Given the description of an element on the screen output the (x, y) to click on. 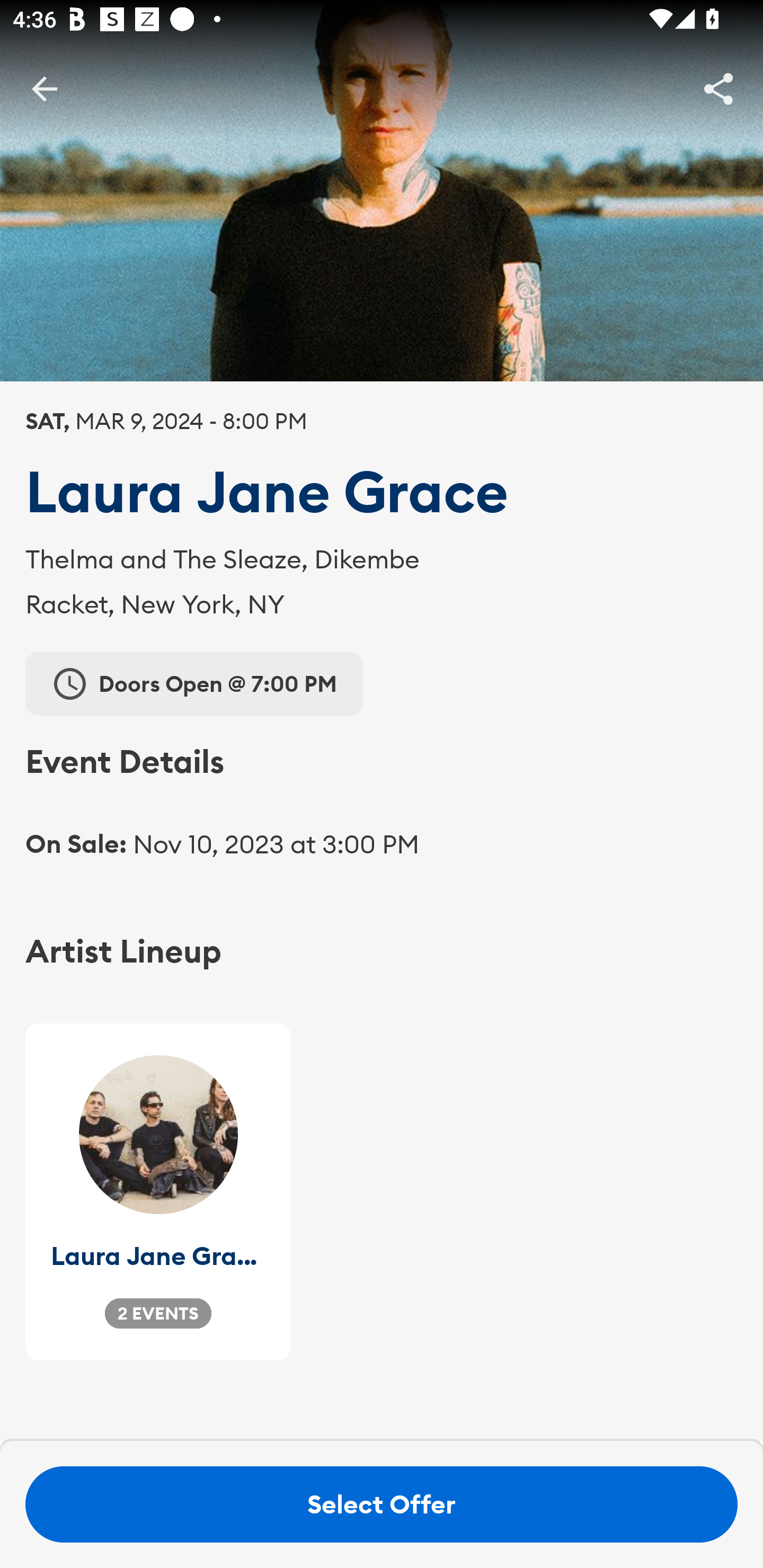
BackButton (44, 88)
Share (718, 88)
Laura Jane Grace 2 EVENTS (157, 1192)
Select Offer (381, 1504)
